Given the description of an element on the screen output the (x, y) to click on. 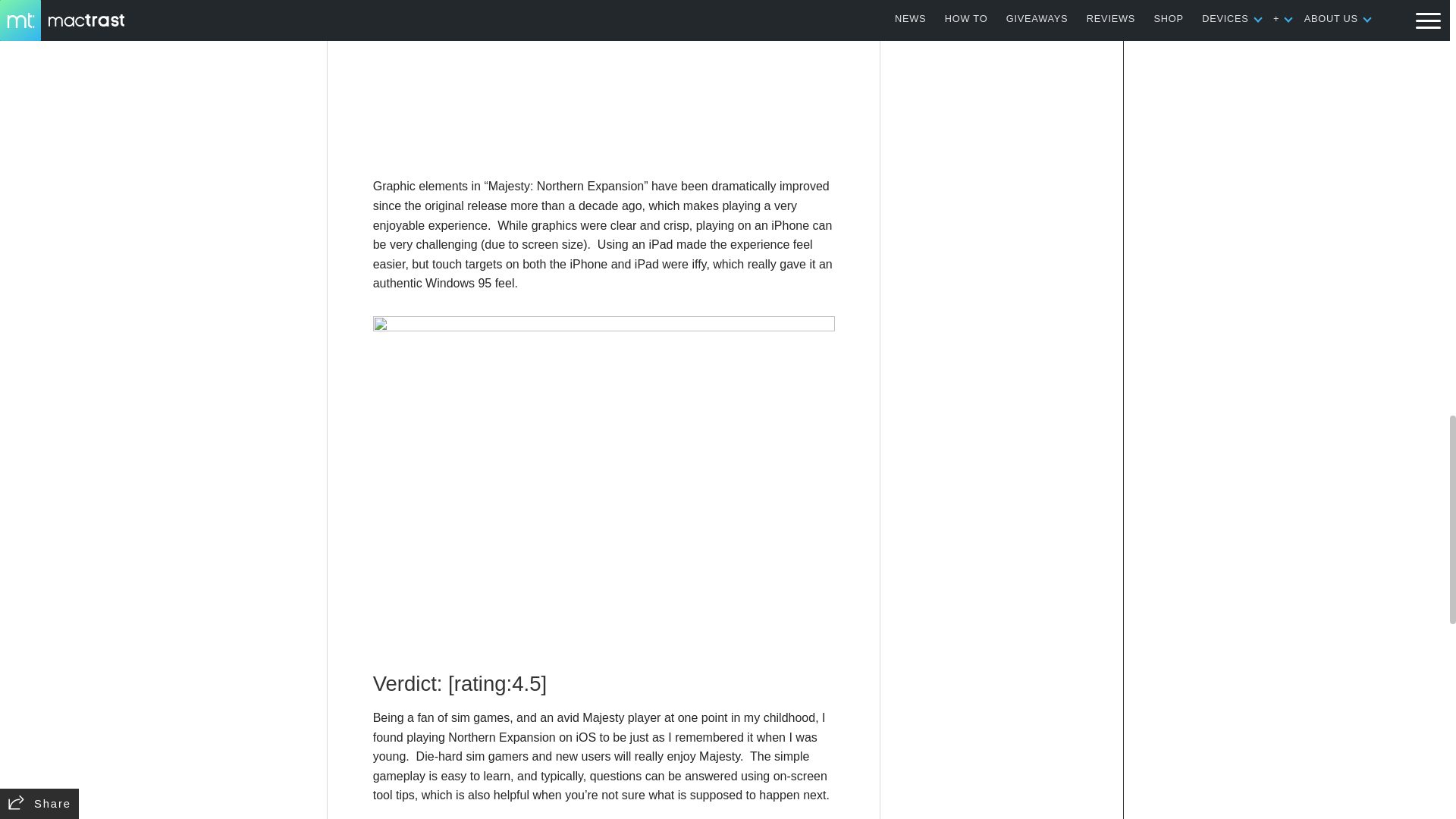
majesty2-guide (603, 81)
